Given the description of an element on the screen output the (x, y) to click on. 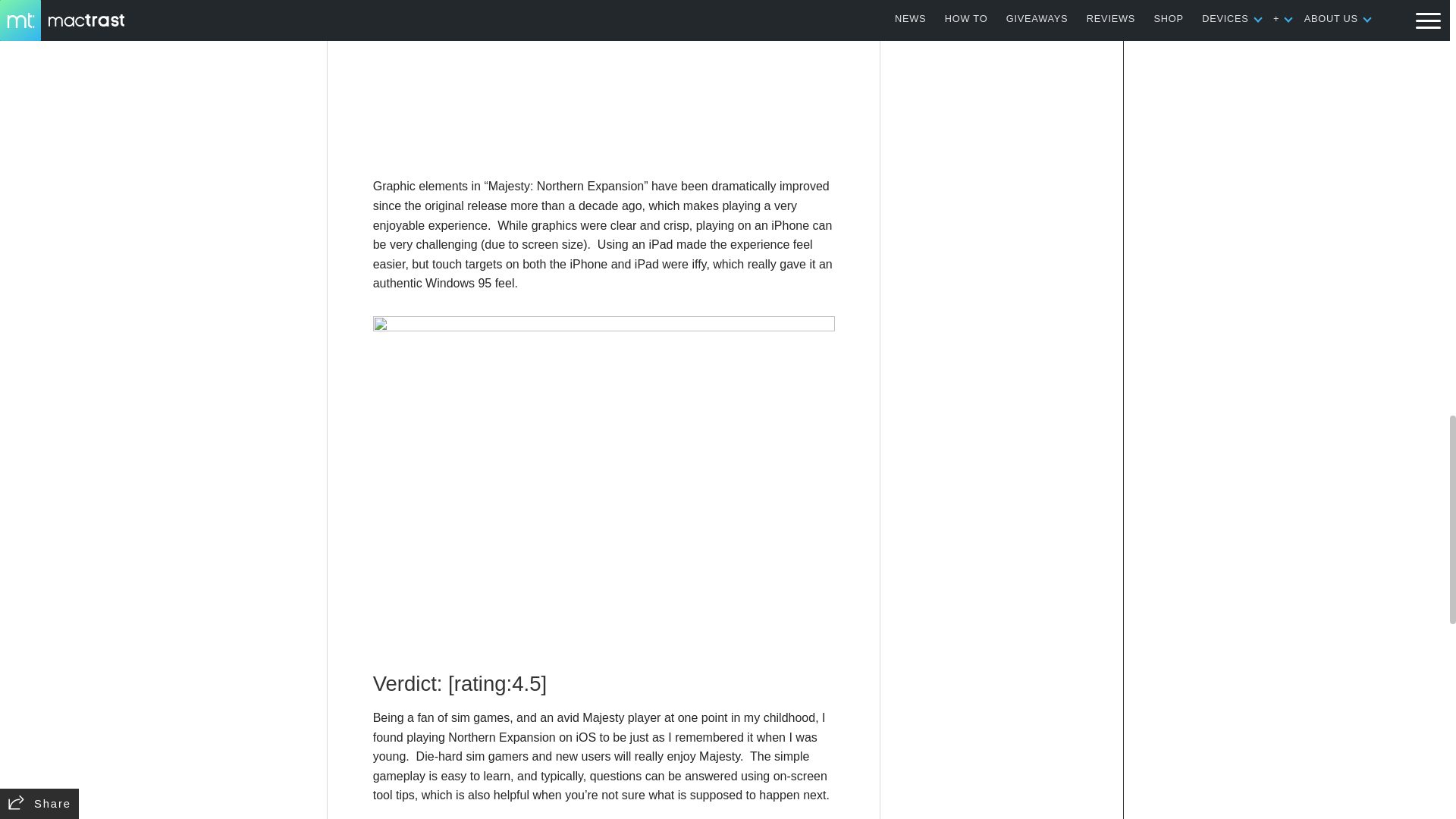
majesty2-guide (603, 81)
